Given the description of an element on the screen output the (x, y) to click on. 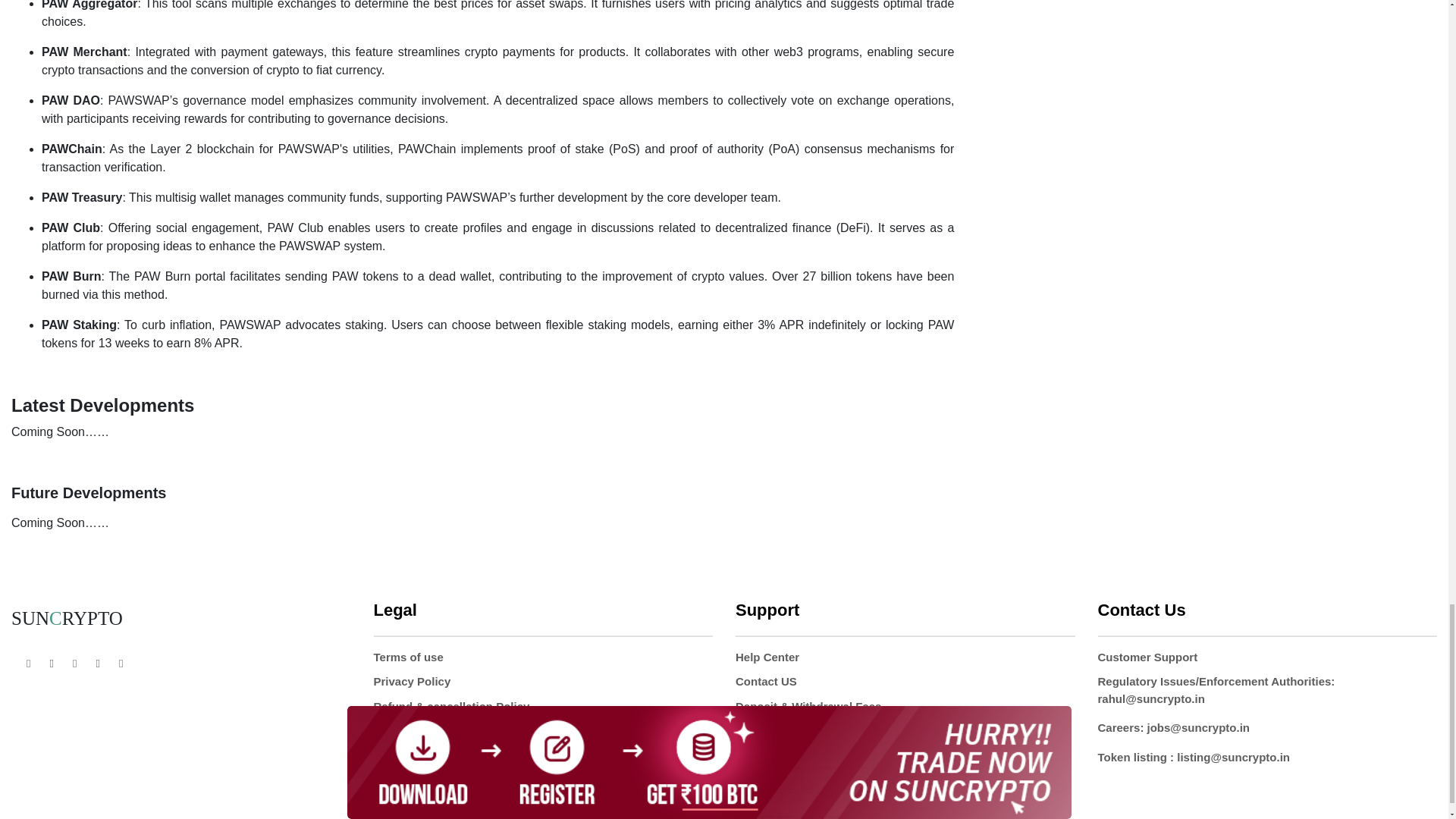
SUNCRYPTO (66, 618)
Terms of use (407, 656)
Privacy Policy (410, 680)
